Given the description of an element on the screen output the (x, y) to click on. 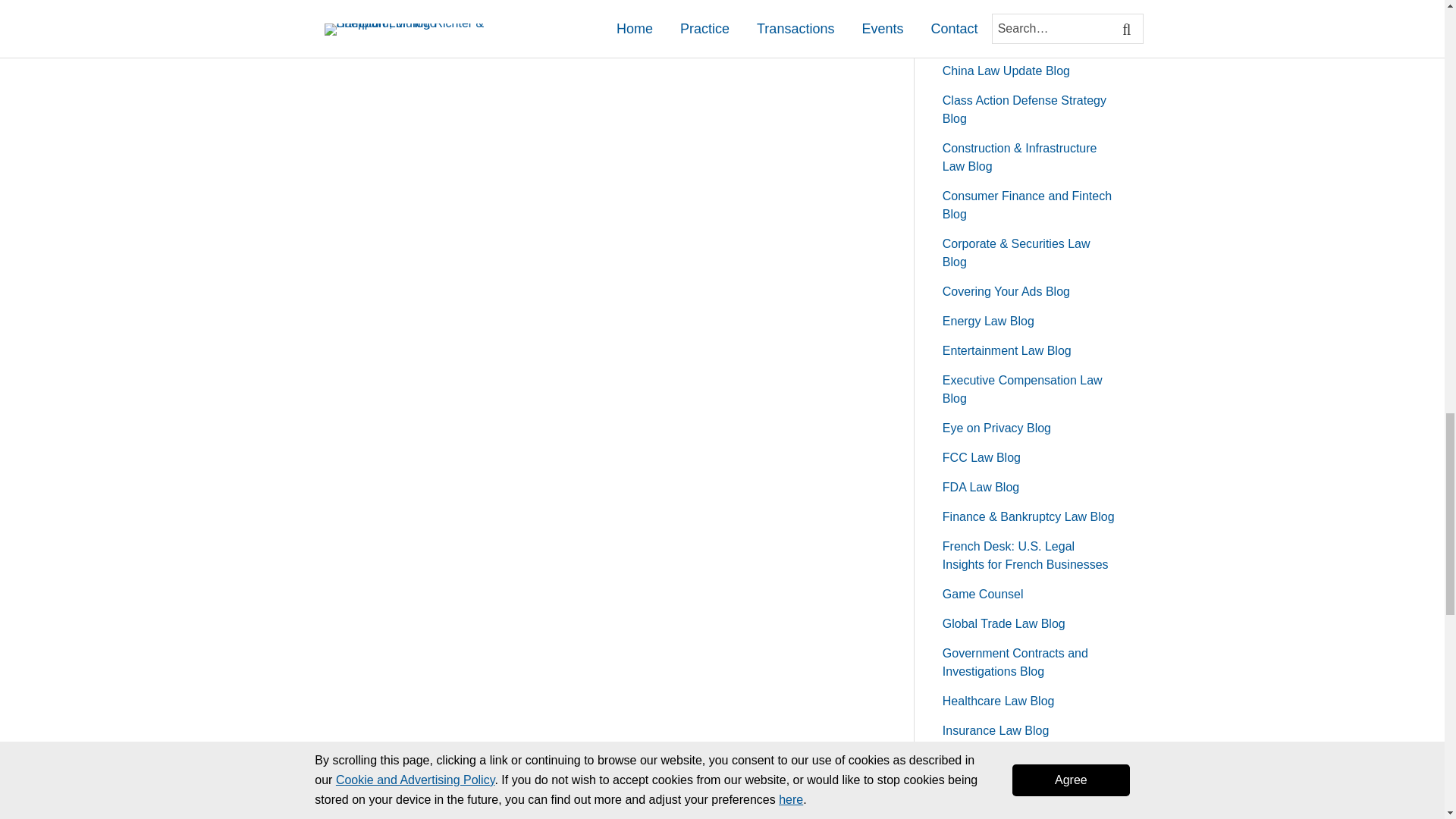
Class Action Defense Strategy Blog (1024, 109)
Cannabis Law Blog (994, 41)
China Law Update Blog (1006, 70)
Art Law Blog (976, 11)
